Given the description of an element on the screen output the (x, y) to click on. 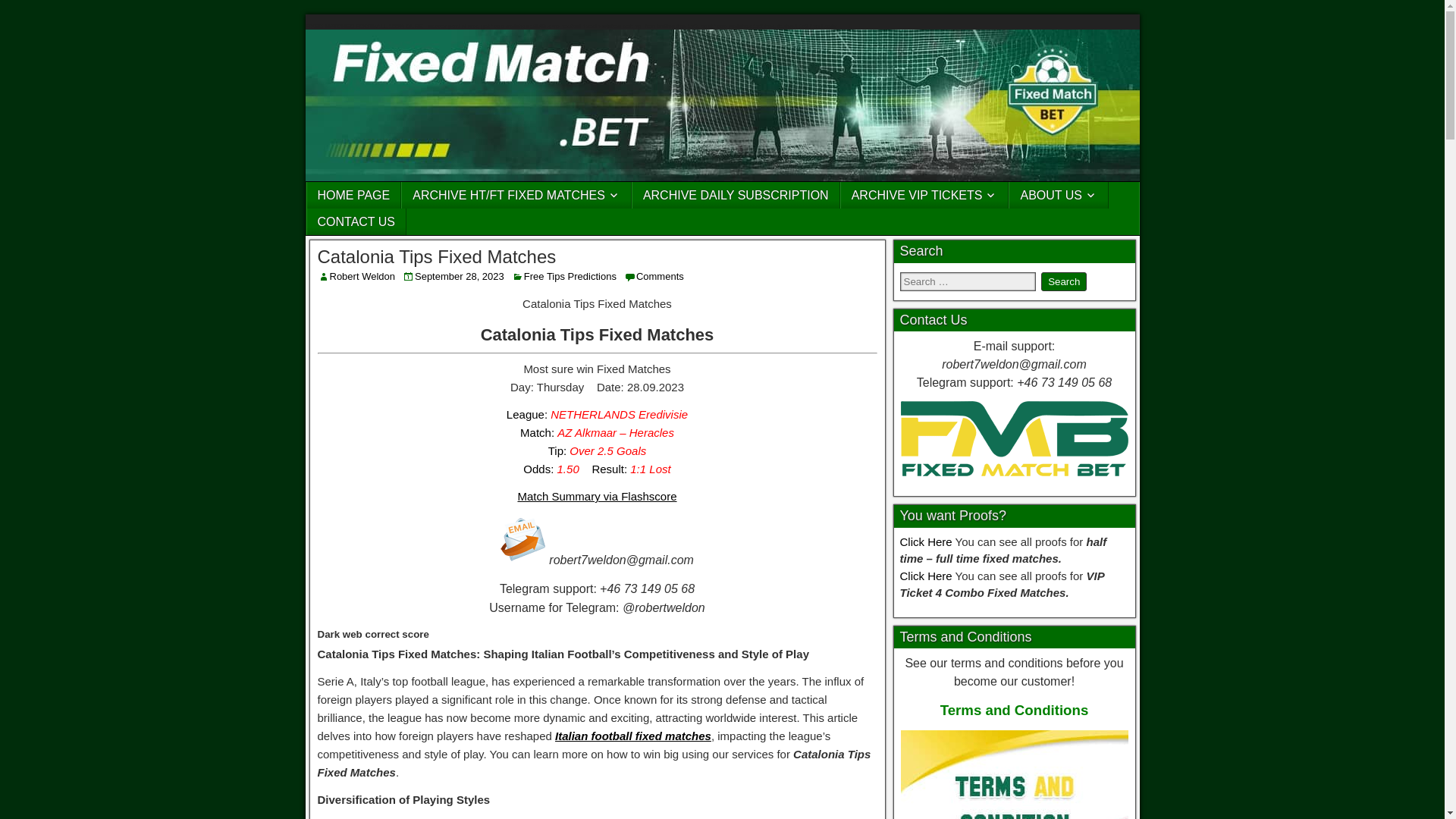
Match Summary via Flashscore (596, 495)
Click Here (925, 575)
ABOUT US (1058, 194)
HOME PAGE (352, 194)
Search (1063, 281)
ARCHIVE DAILY SUBSCRIPTION (735, 194)
Free Tips Predictions (569, 276)
Click Here (925, 541)
Comments (660, 276)
Catalonia Tips Fixed Matches (436, 256)
CONTACT US (355, 221)
Robert Weldon (361, 276)
Search (1063, 281)
ARCHIVE VIP TICKETS (925, 194)
Search (1063, 281)
